Given the description of an element on the screen output the (x, y) to click on. 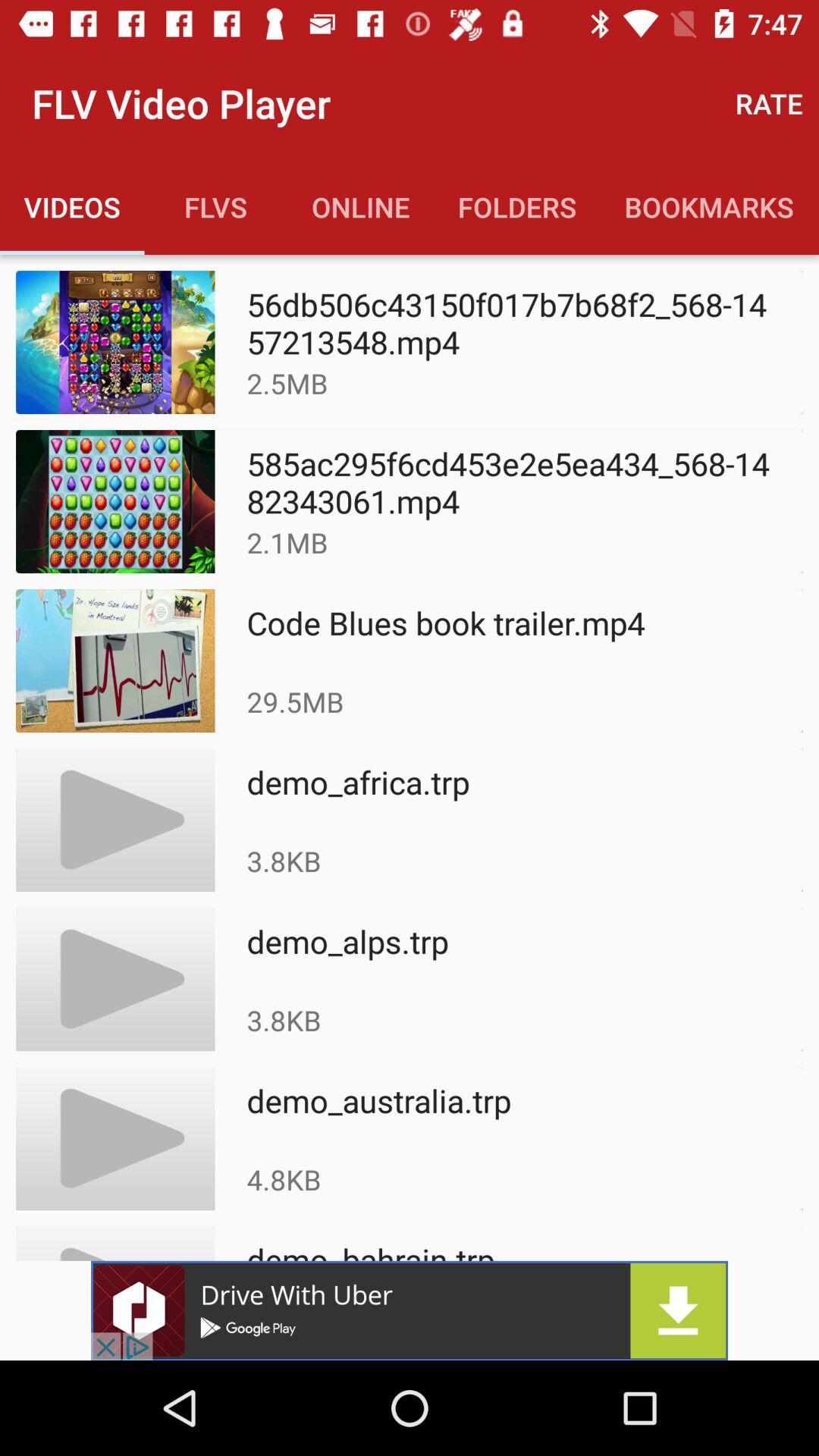
app icon (409, 1310)
